Given the description of an element on the screen output the (x, y) to click on. 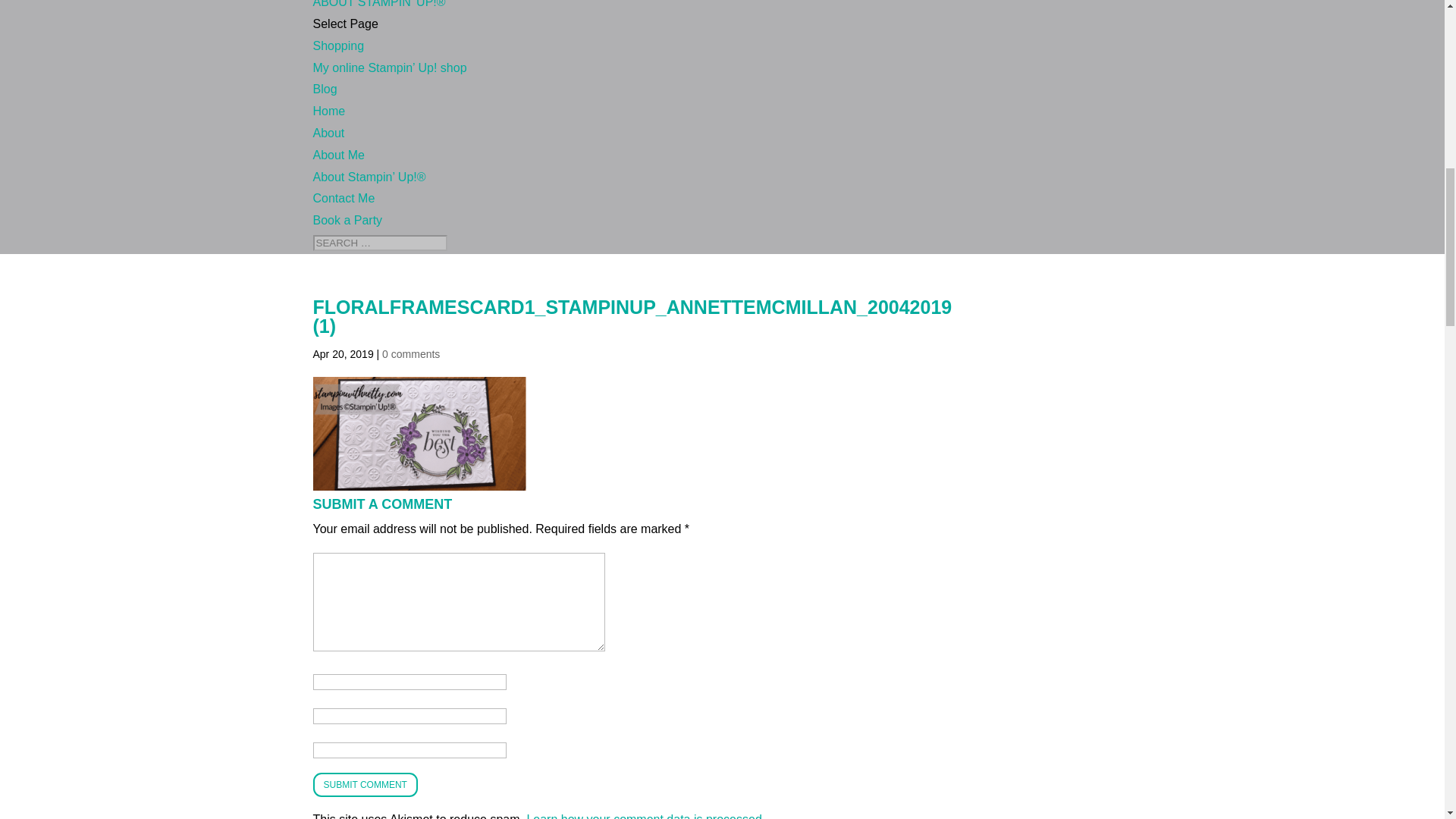
Submit Comment (364, 784)
Blog (324, 88)
Shopping (338, 45)
About Me (338, 154)
Contact Me (343, 197)
Home (329, 110)
About (328, 132)
Search for: (379, 242)
Submit Comment (364, 784)
Learn how your comment data is processed (643, 816)
0 comments (410, 354)
Book a Party (347, 219)
